Given the description of an element on the screen output the (x, y) to click on. 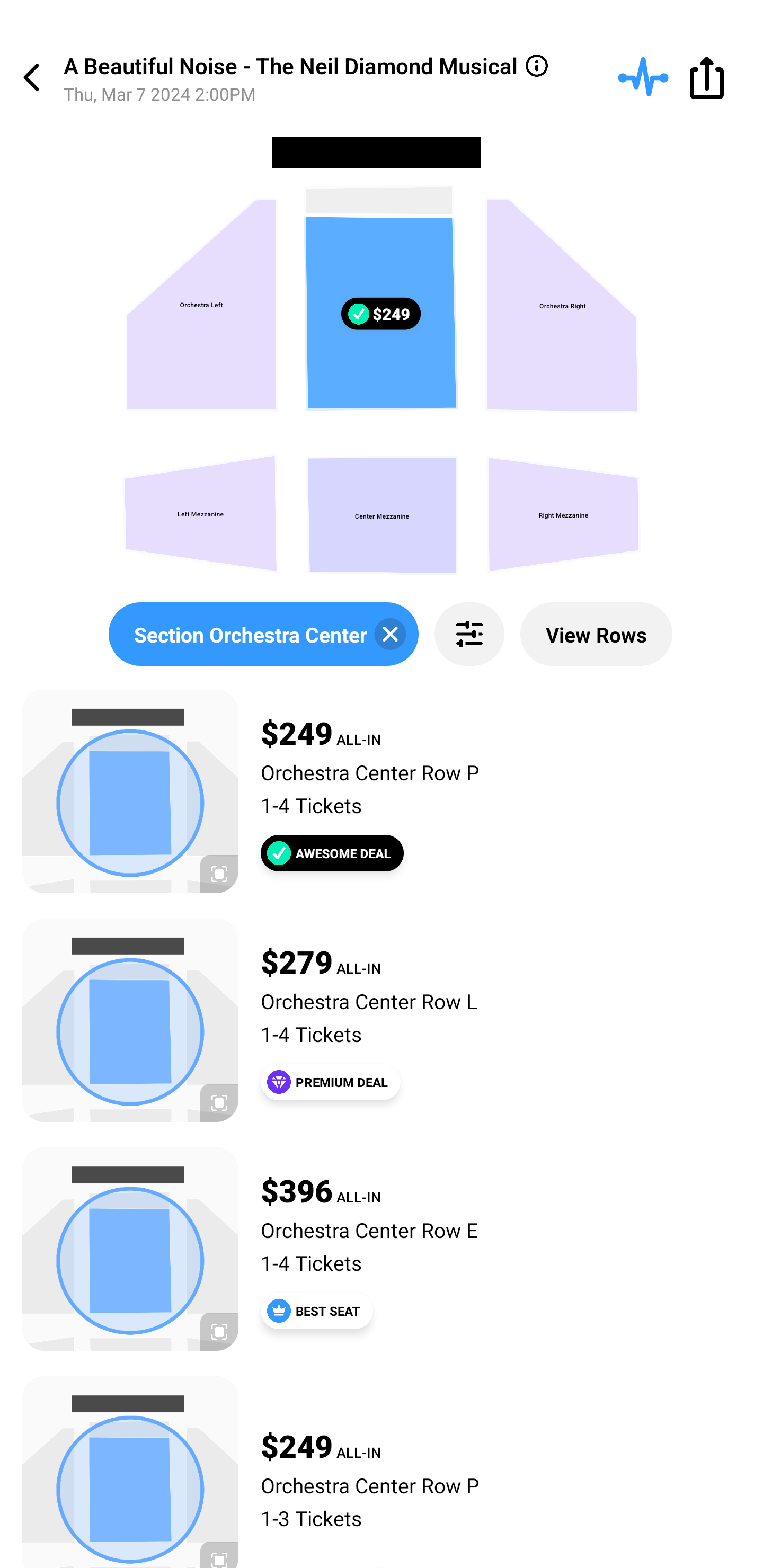
$249 (380, 313)
Section Orchestra Center (263, 634)
View Rows (596, 634)
AWESOME DEAL (331, 852)
PREMIUM DEAL (330, 1081)
BEST SEAT (316, 1310)
